Given the description of an element on the screen output the (x, y) to click on. 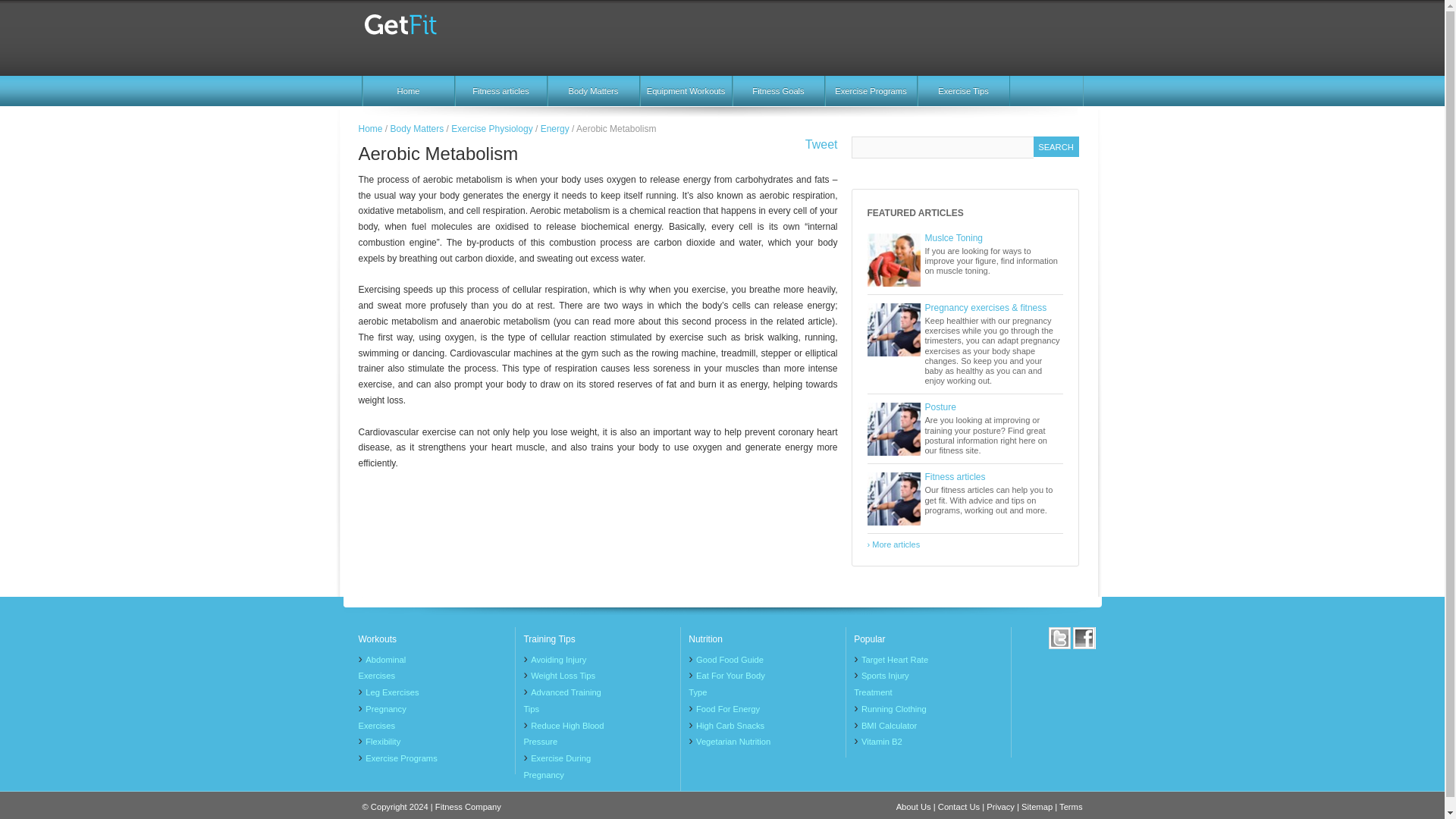
Body Matters (593, 91)
Home (407, 91)
Fitness articles (500, 91)
